Given the description of an element on the screen output the (x, y) to click on. 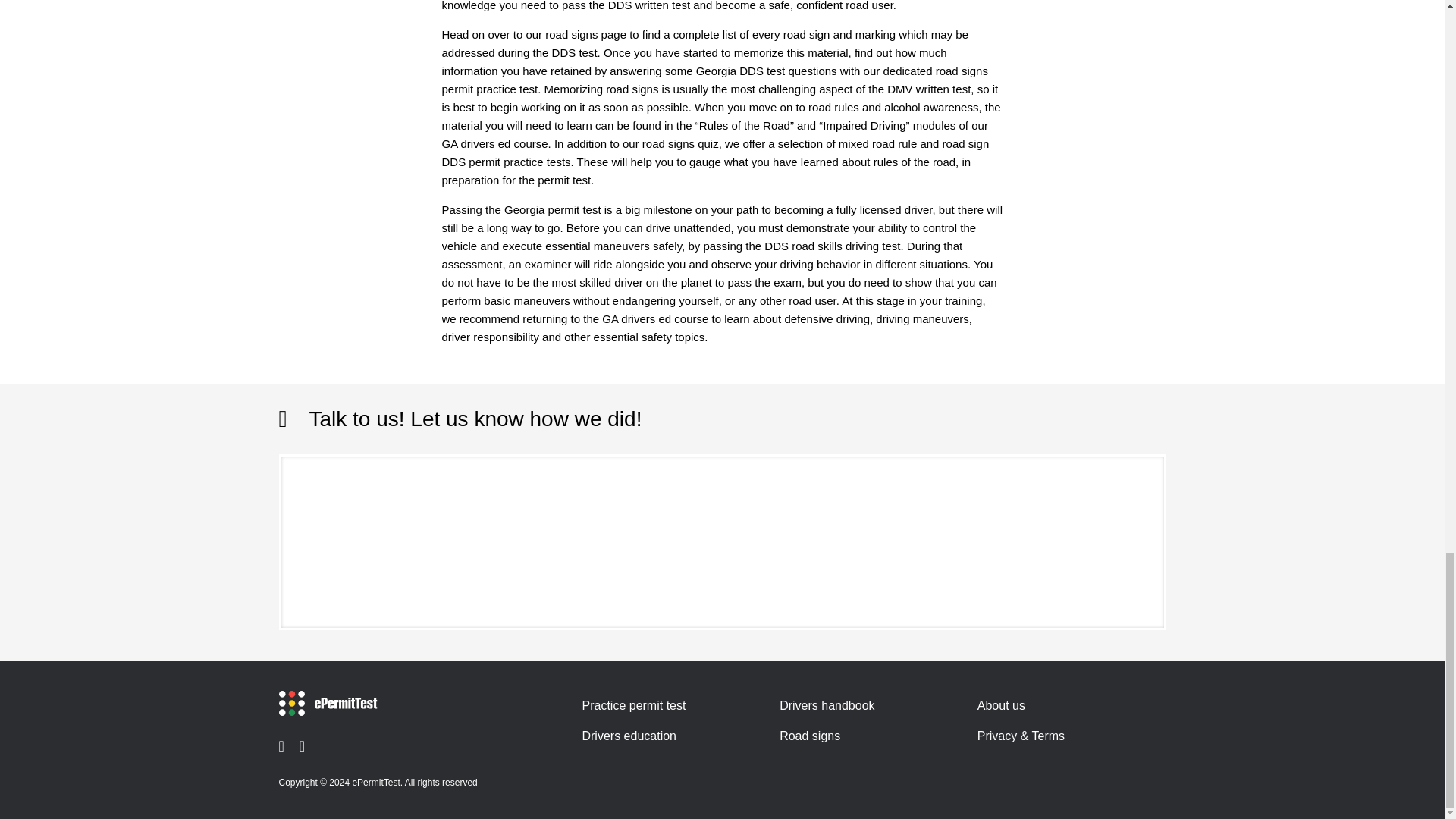
Drivers education (628, 736)
Practice permit test (632, 705)
About us (1000, 705)
Drivers education (628, 736)
Practice permit test (632, 705)
Road signs (809, 736)
Drivers handbook (826, 705)
